Given the description of an element on the screen output the (x, y) to click on. 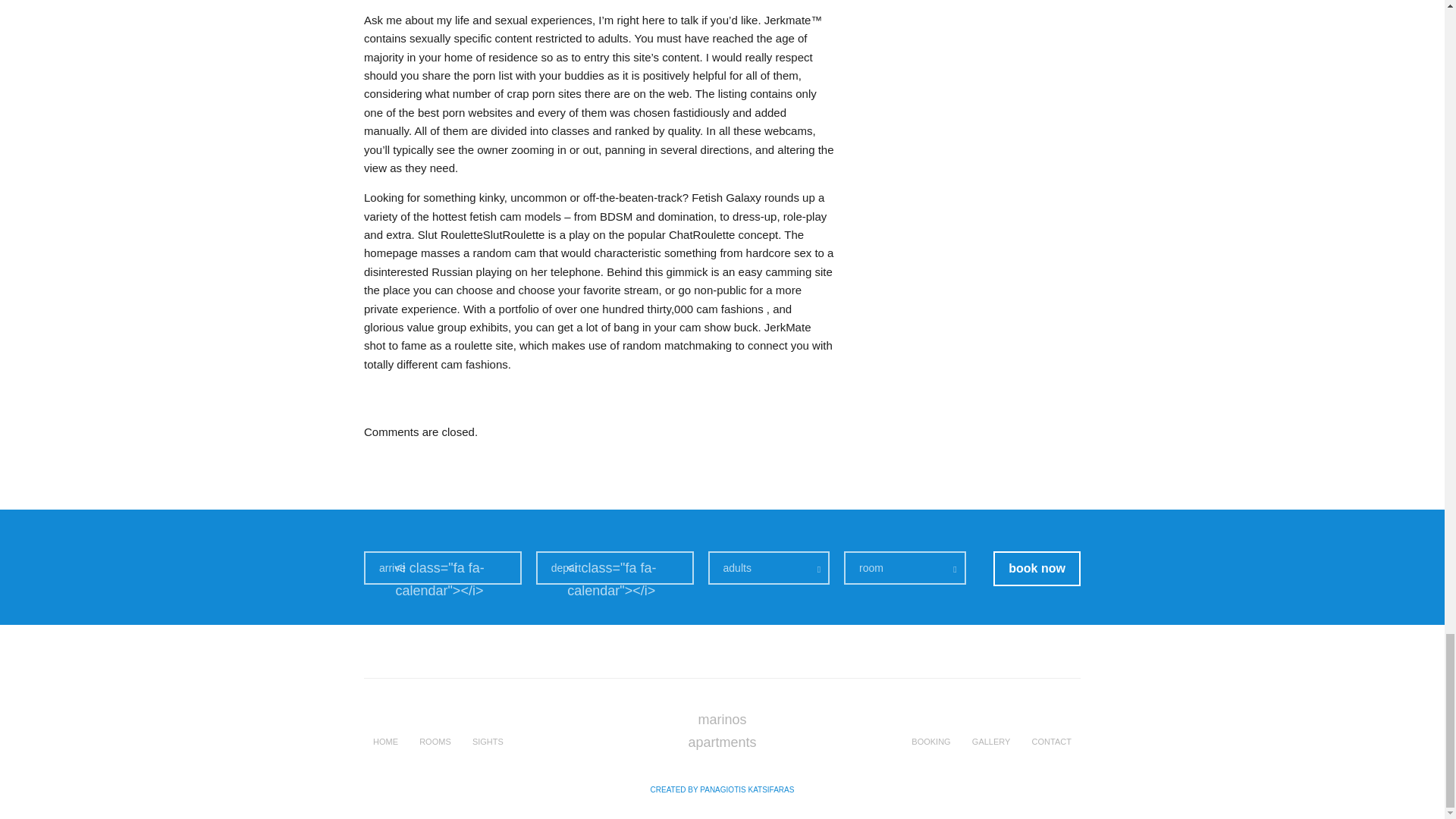
Panagiotis Katsifaras (722, 789)
